Given the description of an element on the screen output the (x, y) to click on. 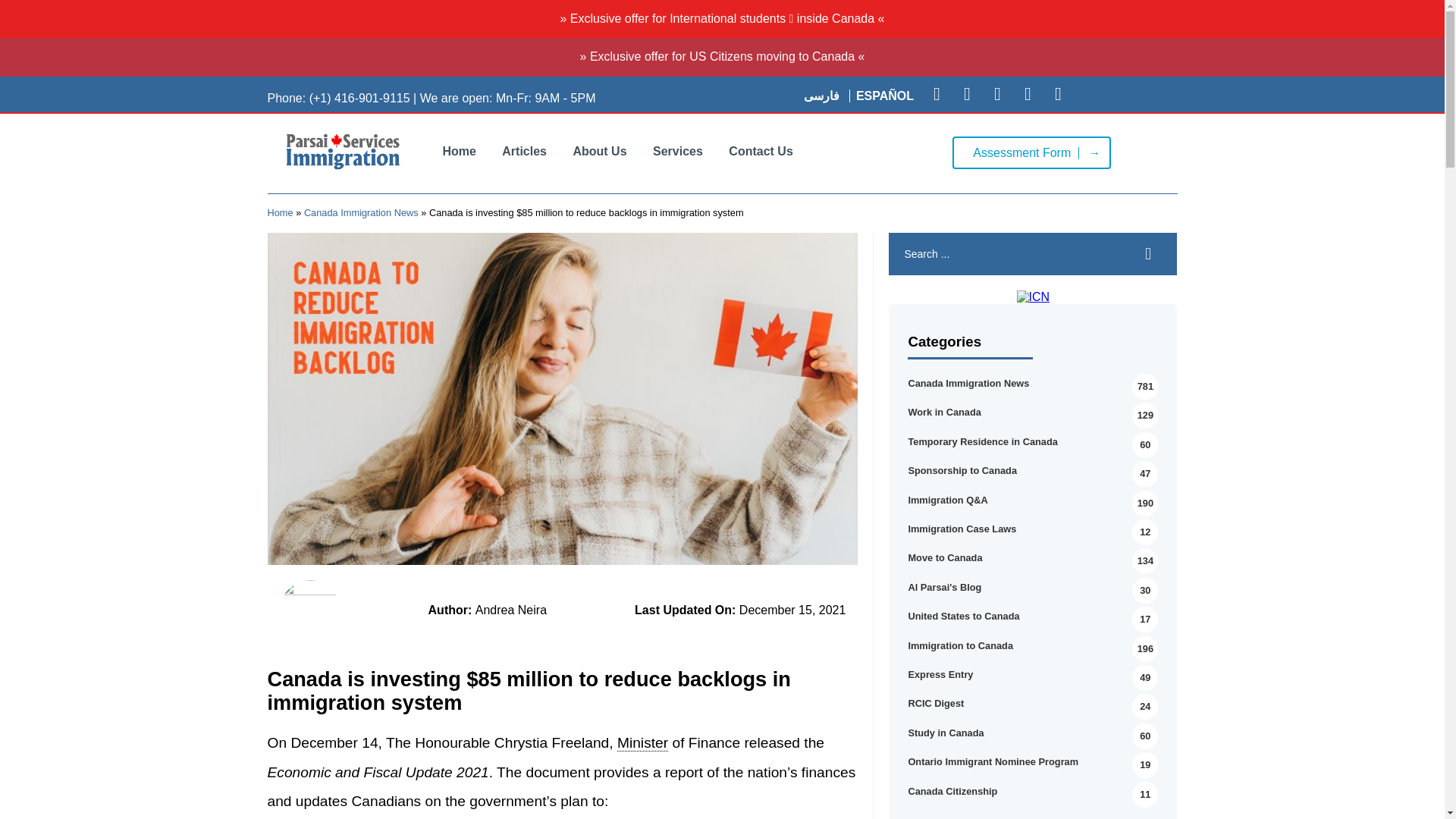
Home (458, 151)
Assessment Form (1031, 152)
Articles (523, 151)
View all posts in Work in Canada (943, 411)
View all posts in Immigration Case Laws (961, 528)
Home (279, 212)
View all posts in Canada Immigration News (968, 383)
Minister (642, 742)
Contact Us (760, 151)
Services (678, 151)
